Given the description of an element on the screen output the (x, y) to click on. 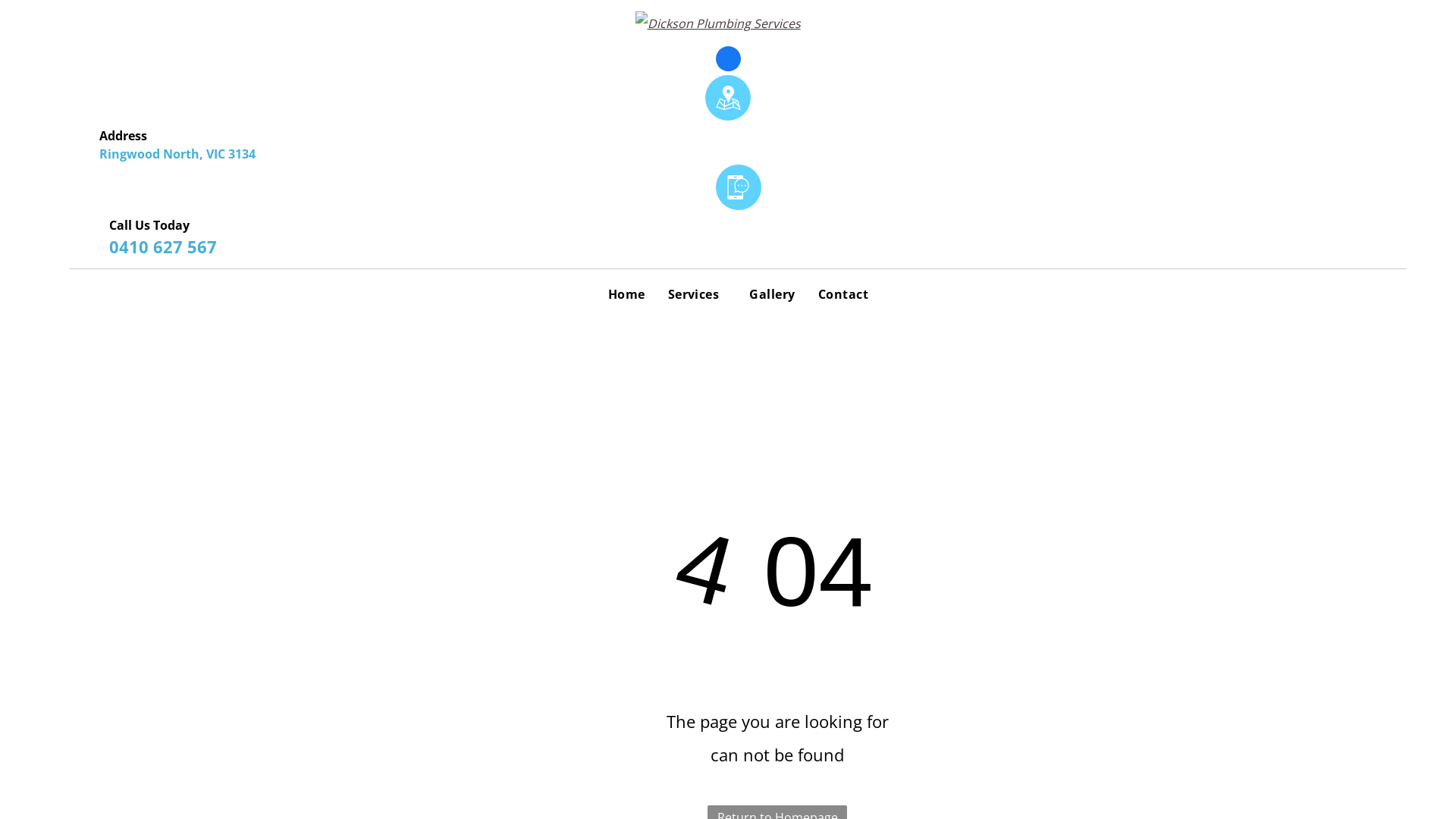
Home Element type: text (626, 294)
Services Element type: text (697, 294)
Gallery Element type: text (771, 294)
Ringwood North, VIC 3134 Element type: text (177, 153)
0410 627 567 Element type: text (162, 246)
Contact Element type: text (842, 294)
